Given the description of an element on the screen output the (x, y) to click on. 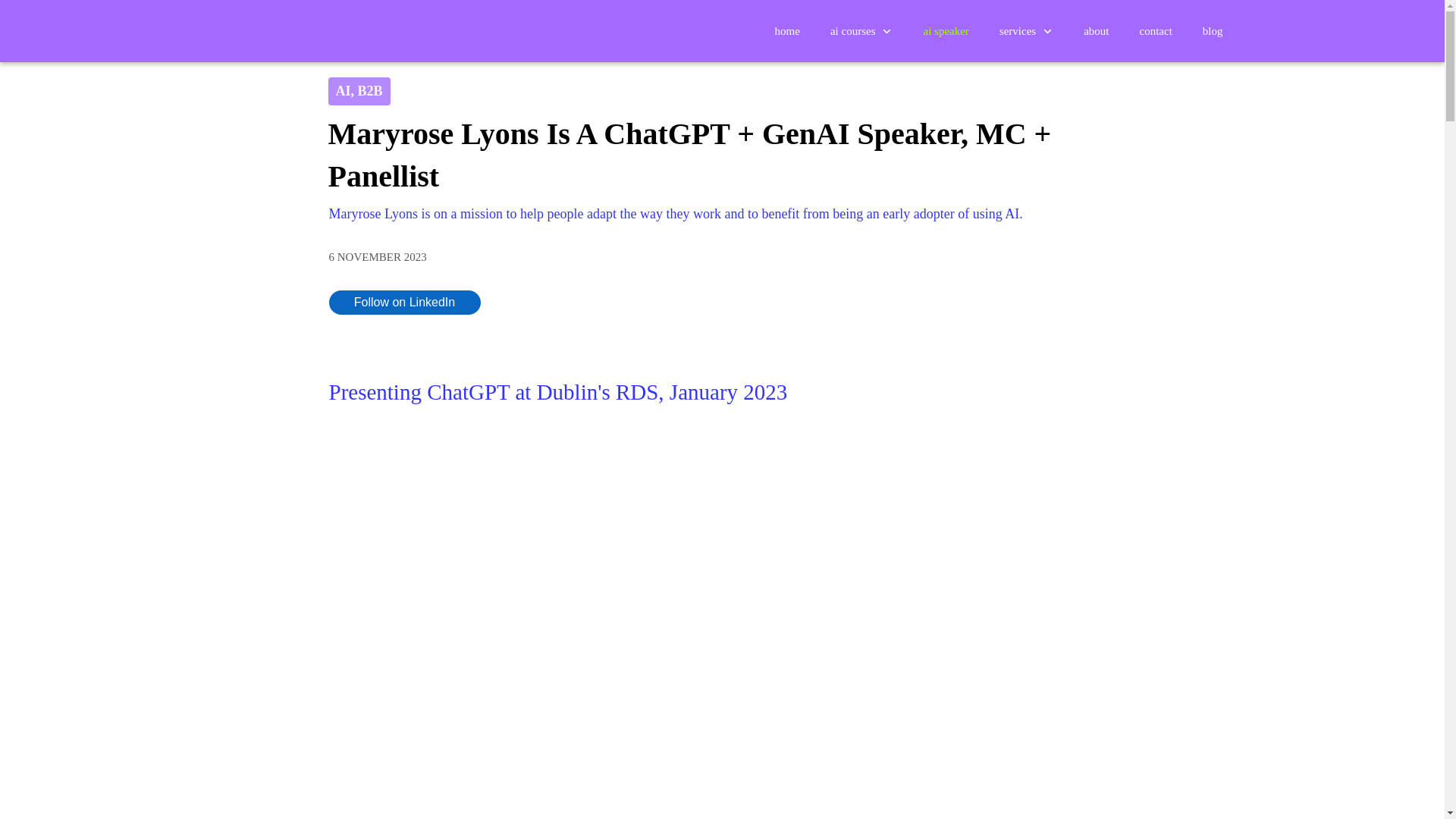
ai speaker (945, 30)
Follow on LinkedIn (404, 301)
b2b (370, 90)
ai (342, 90)
B2B (370, 90)
AI (342, 90)
blog (1212, 30)
about (1095, 30)
contact (1156, 30)
